Given the description of an element on the screen output the (x, y) to click on. 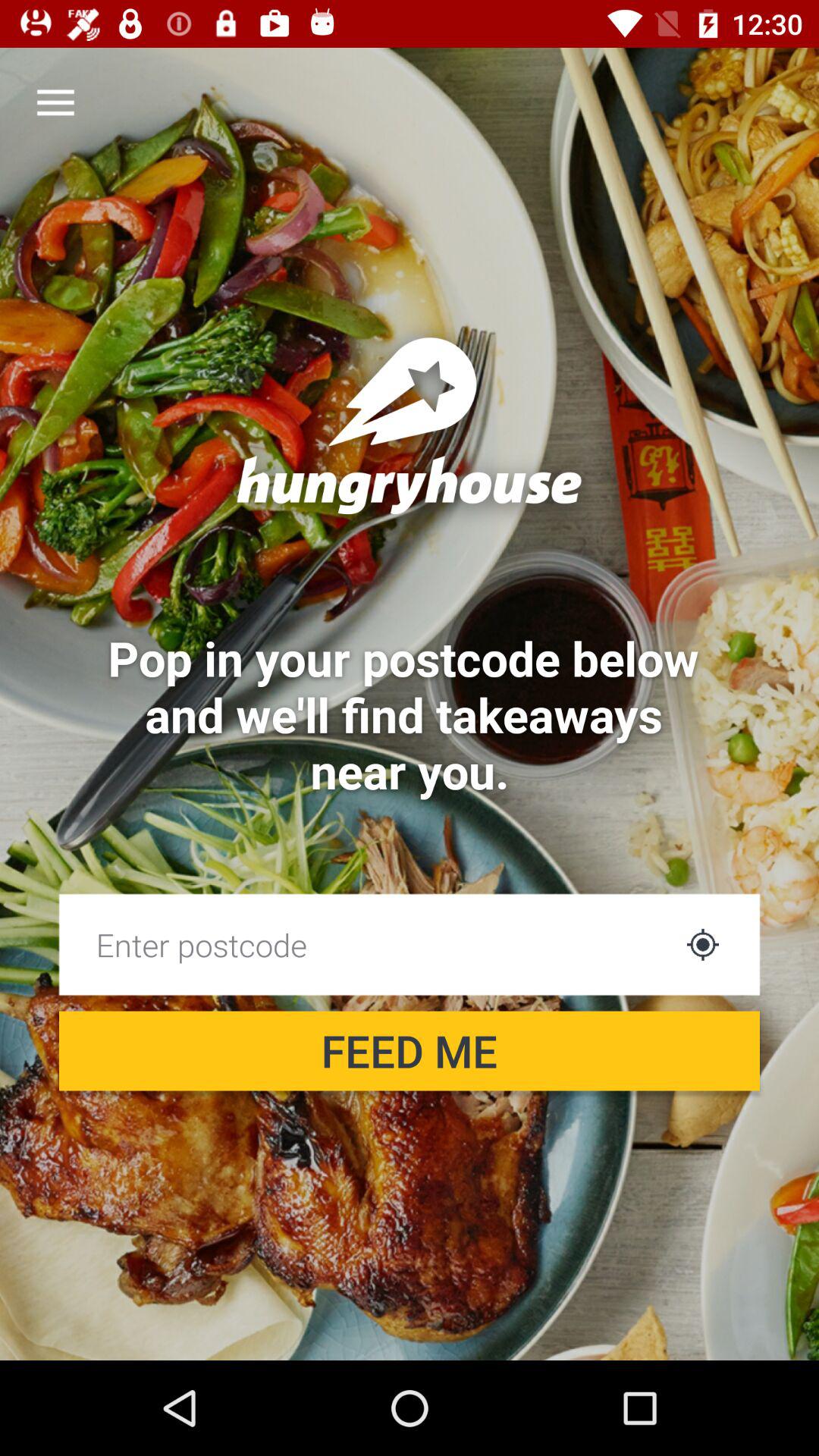
select icon above feed me icon (702, 944)
